Given the description of an element on the screen output the (x, y) to click on. 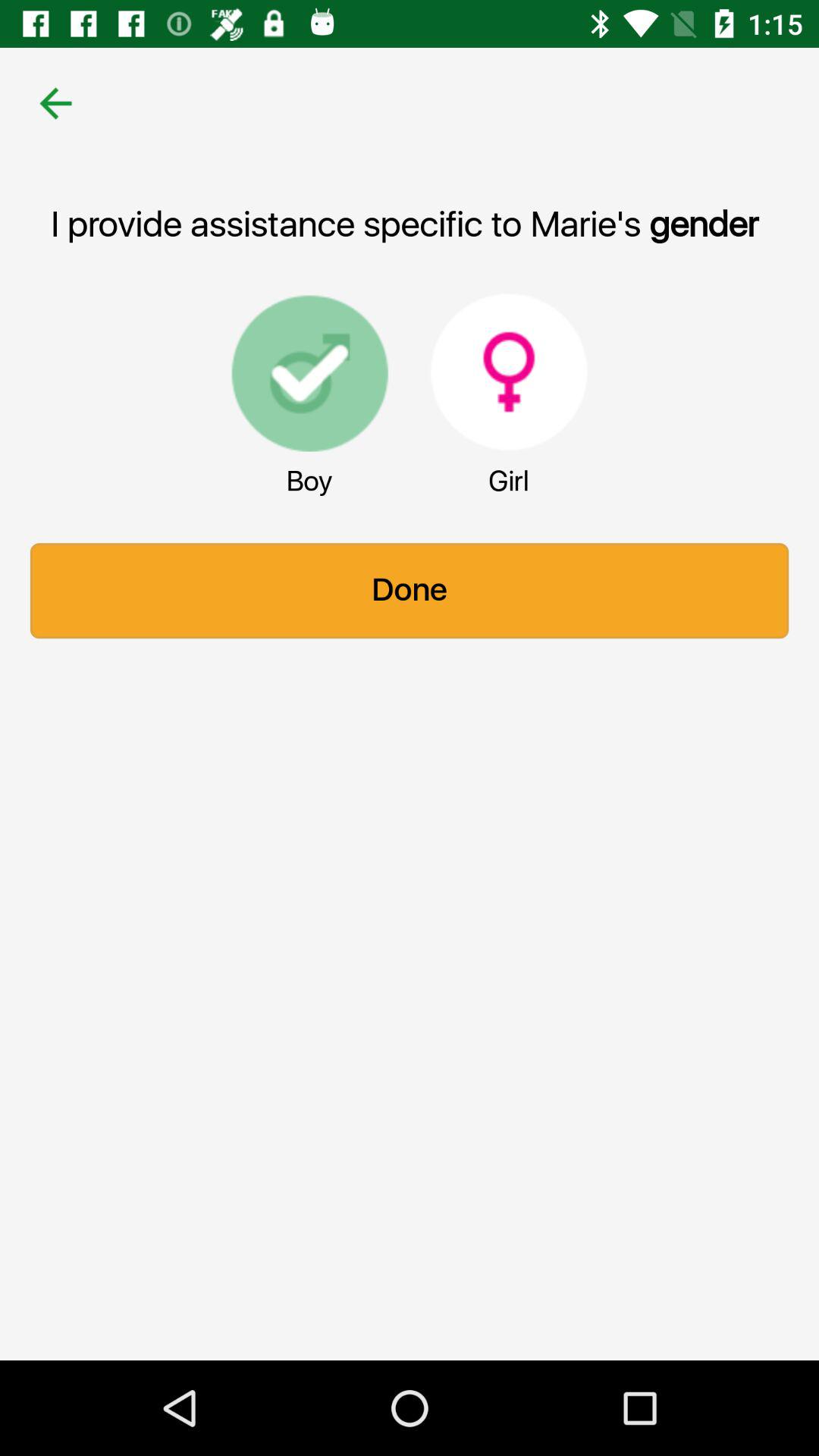
select boy (309, 371)
